Given the description of an element on the screen output the (x, y) to click on. 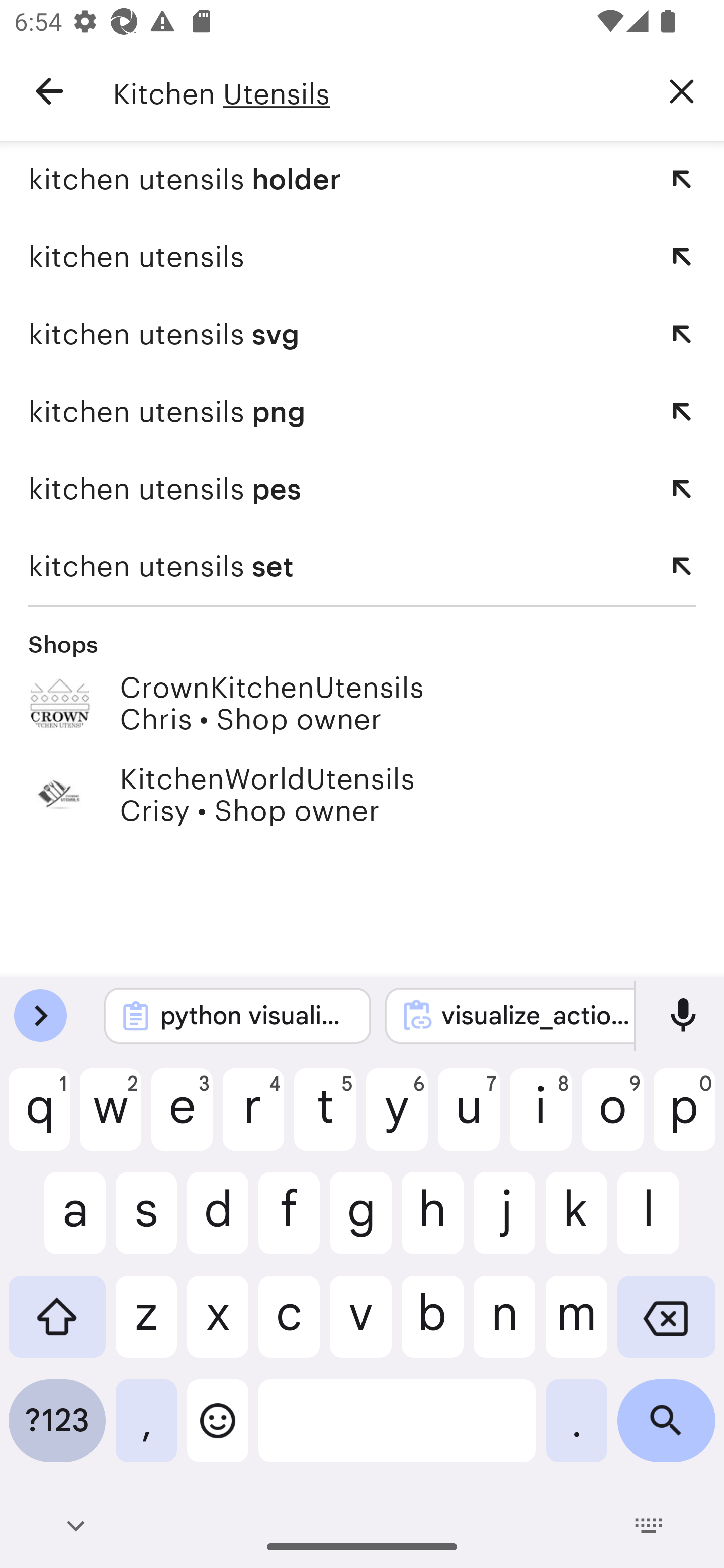
Navigate up (49, 91)
Clear query (681, 90)
Kitchen Utensils (375, 91)
